Given the description of an element on the screen output the (x, y) to click on. 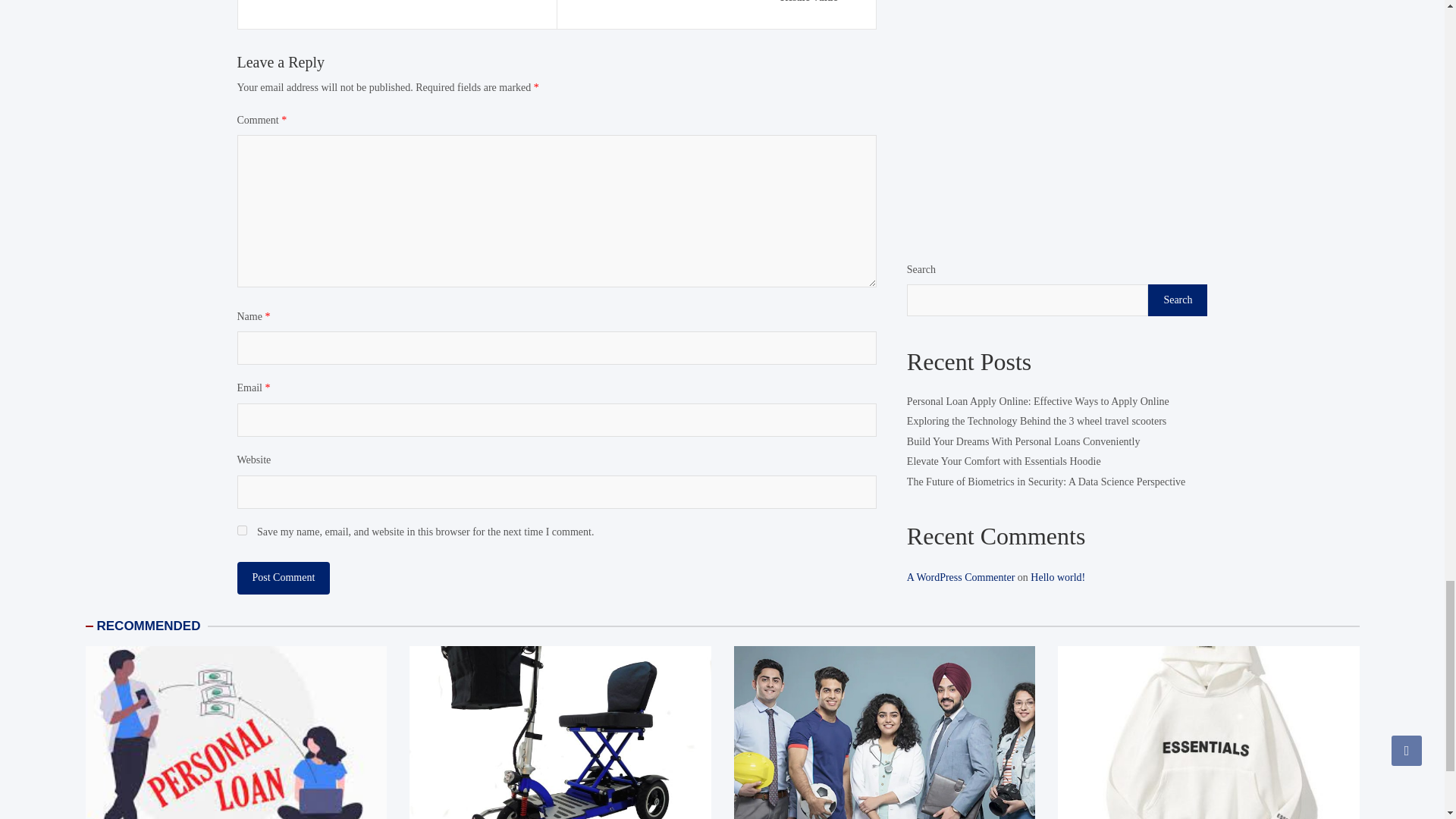
Post Comment (282, 577)
Post Comment (282, 577)
Elden Ring Best Characters for Gameplay 2023 (397, 6)
yes (240, 530)
RECOMMENDED (148, 626)
